Given the description of an element on the screen output the (x, y) to click on. 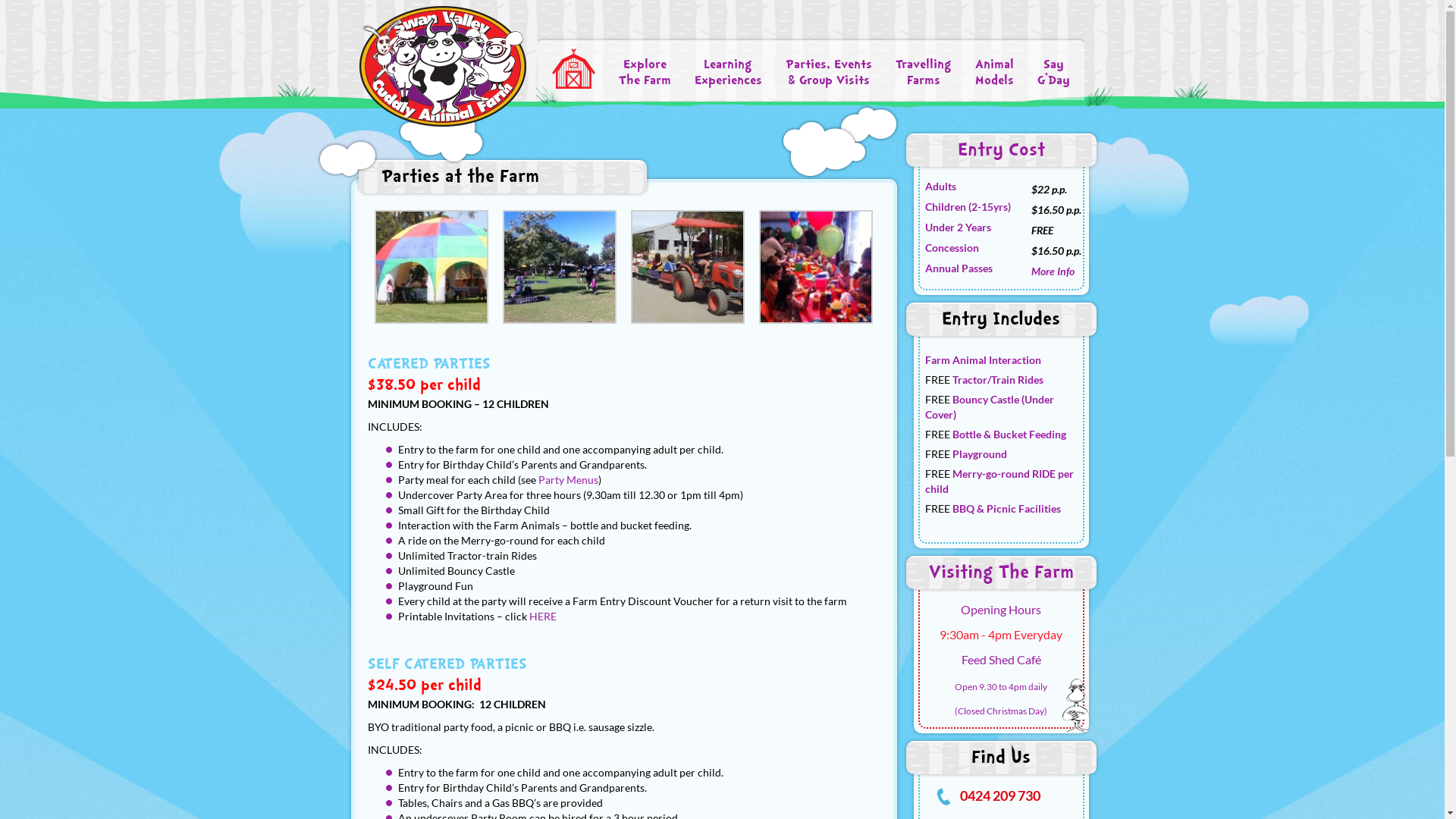
Home Element type: text (573, 68)
Explore
The Farm Element type: text (644, 72)
More Info Element type: text (1052, 269)
Animal
Models Element type: text (994, 72)
0424 209 730 Element type: text (1000, 795)
Travelling
Farms Element type: text (922, 72)
Learning
Experiences Element type: text (728, 72)
Cuddly Animal Farm Element type: hover (442, 64)
HERE Element type: text (542, 615)
Parties, Events
& Group Visits Element type: text (828, 72)
Party Menus Element type: text (568, 479)
